Given the description of an element on the screen output the (x, y) to click on. 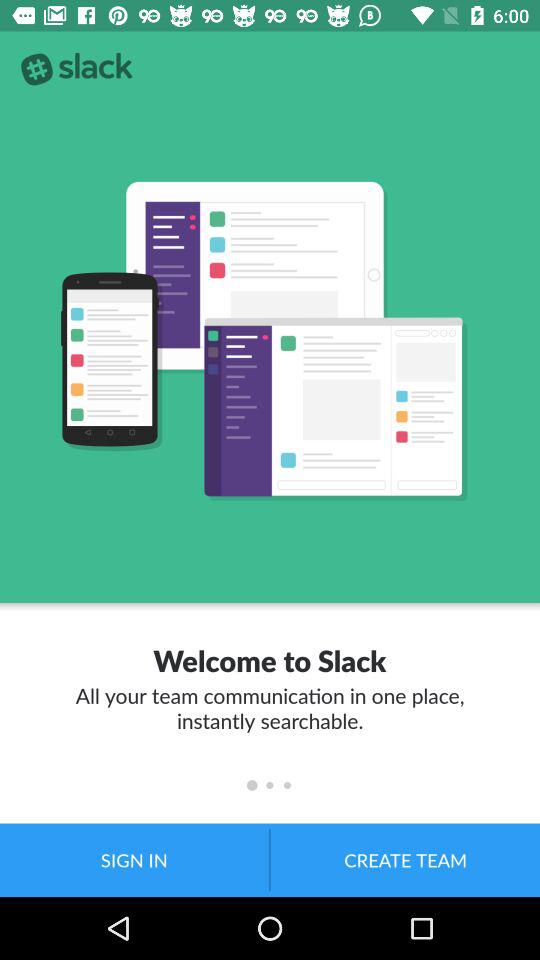
click the sign in icon (134, 859)
